Given the description of an element on the screen output the (x, y) to click on. 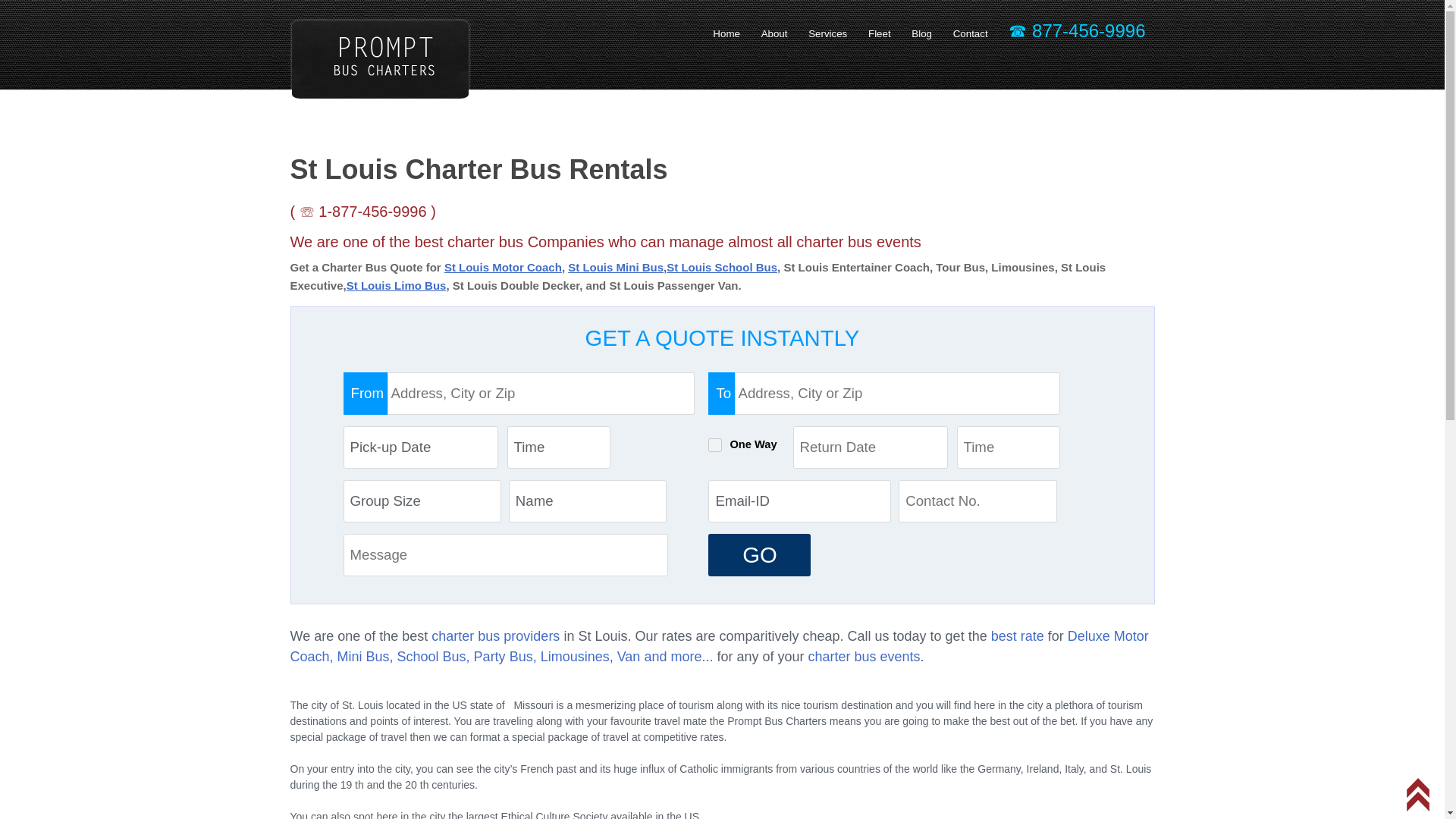
Pick-up Date (419, 446)
Fleet (879, 33)
St Louis Limo Bus (396, 285)
Group Size (421, 500)
Services (827, 33)
charter bus events (864, 656)
Return Time (1007, 446)
About (774, 33)
GO (758, 554)
